Given the description of an element on the screen output the (x, y) to click on. 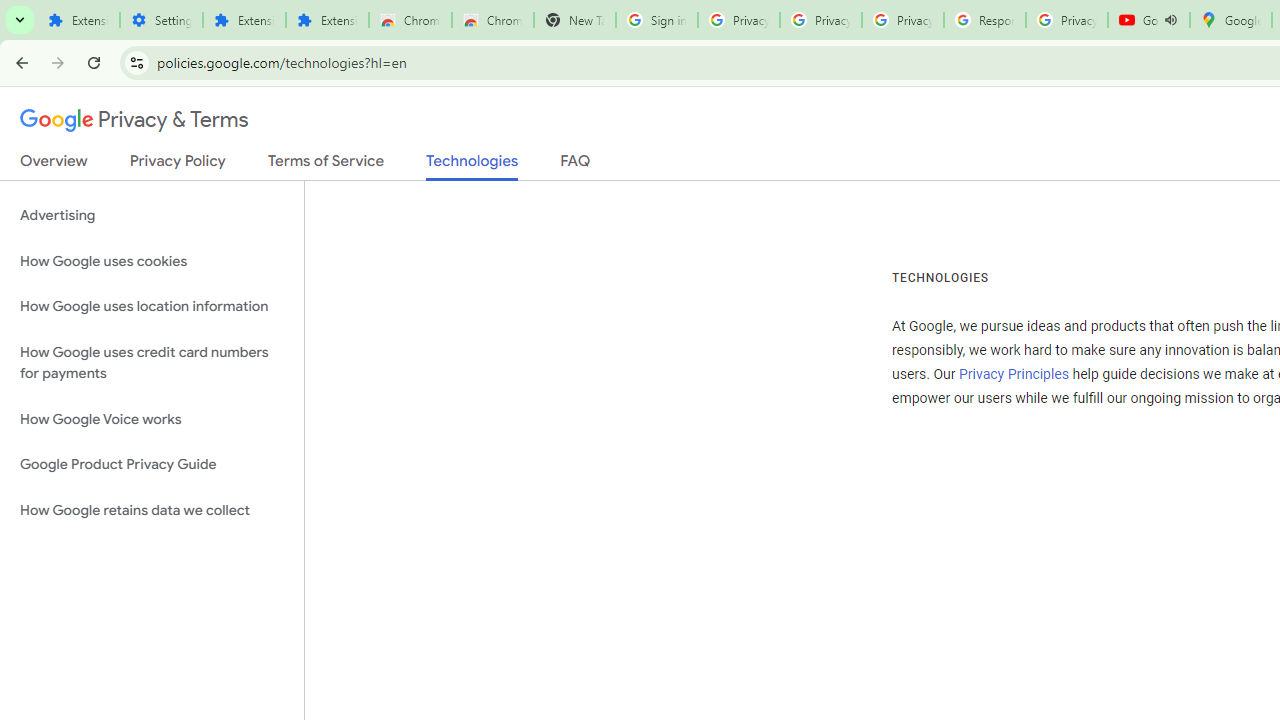
Chrome Web Store (409, 20)
How Google Voice works (152, 419)
Extensions (78, 20)
Extensions (244, 20)
Privacy Principles (1013, 374)
Google Product Privacy Guide (152, 465)
How Google uses credit card numbers for payments (152, 362)
